Given the description of an element on the screen output the (x, y) to click on. 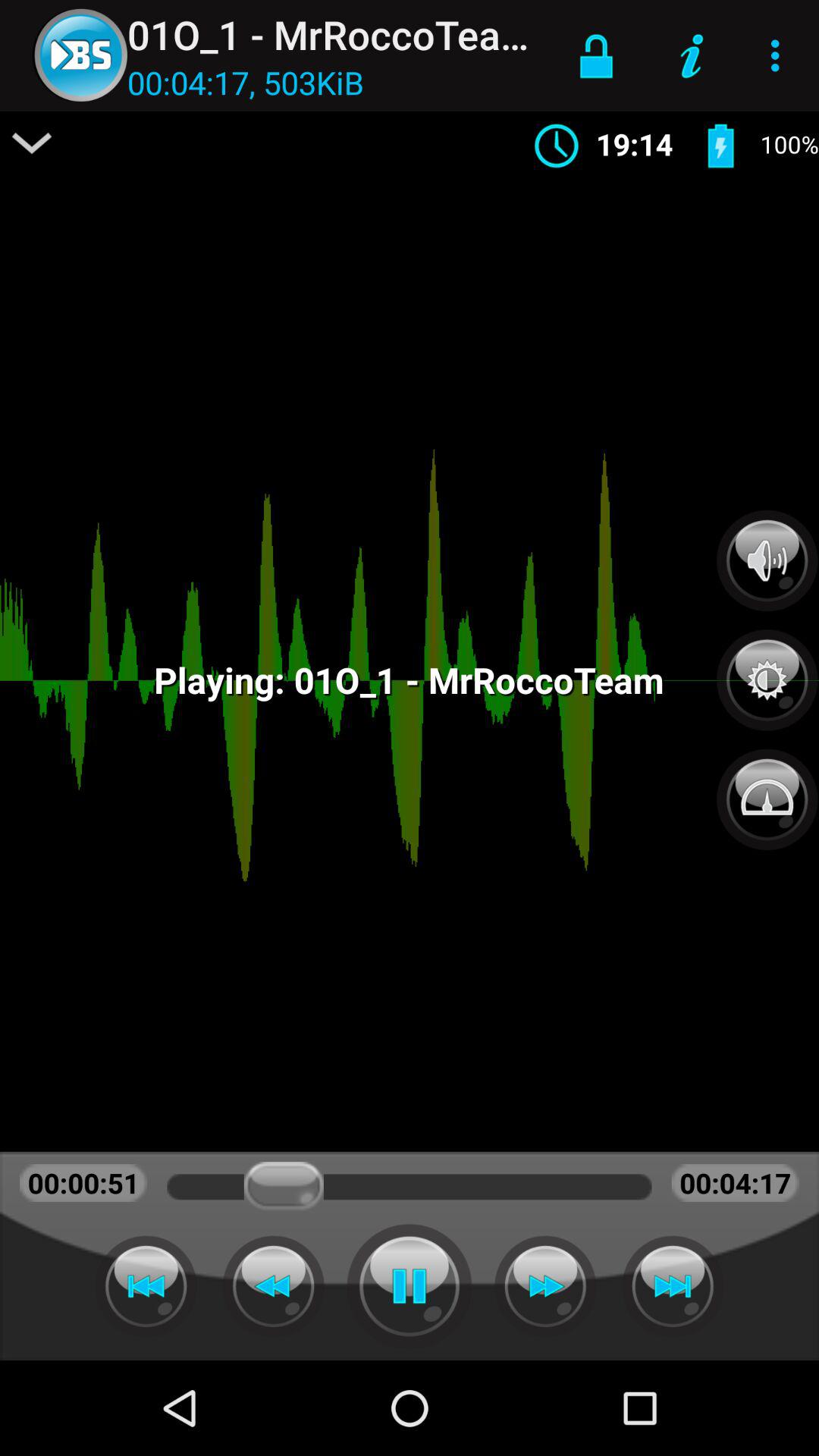
stop play (409, 1286)
